Given the description of an element on the screen output the (x, y) to click on. 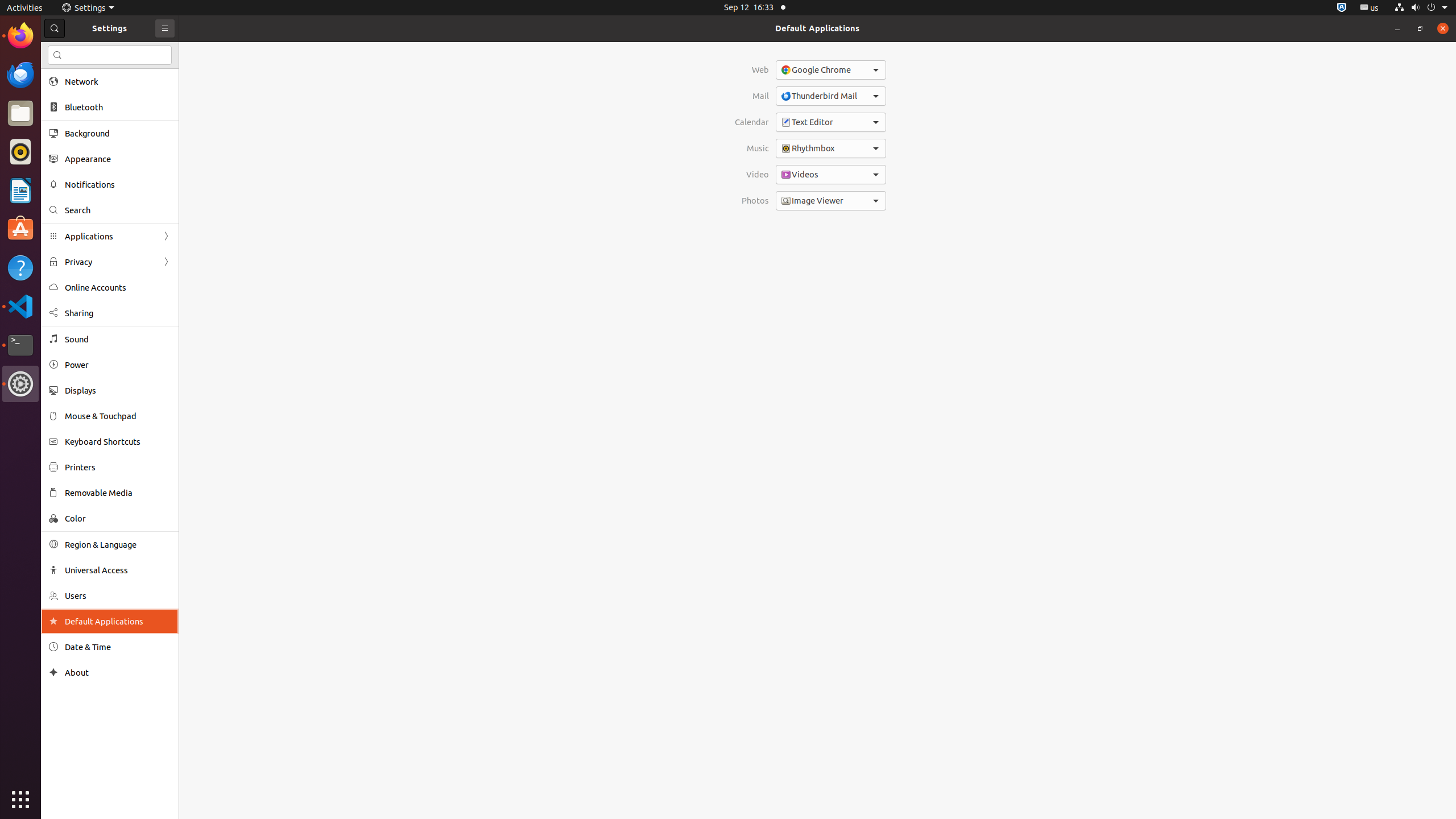
About Element type: icon (53, 672)
Default Applications Element type: label (817, 27)
Applications Element type: label (109, 236)
